Given the description of an element on the screen output the (x, y) to click on. 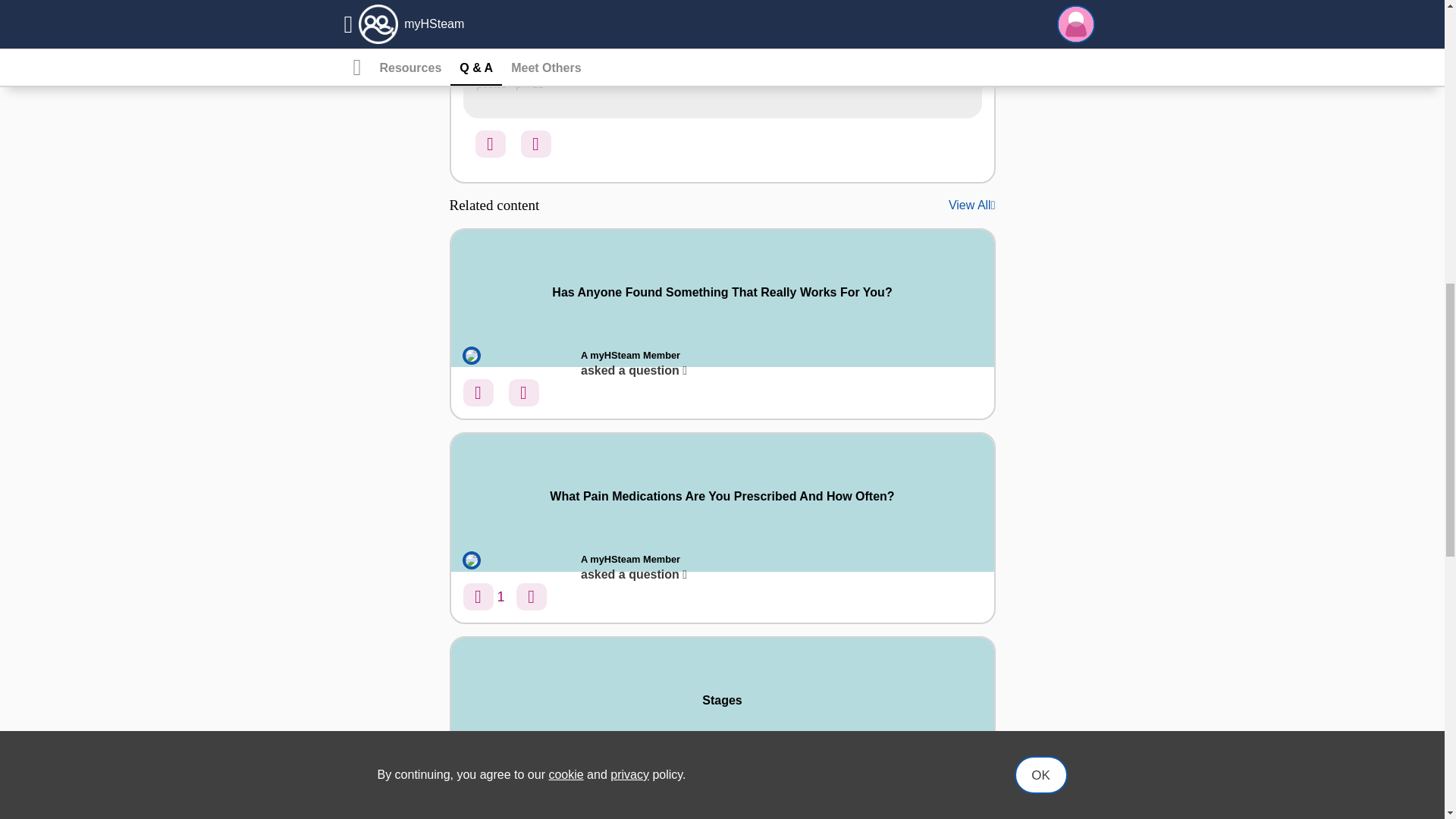
View All (970, 205)
Send a hug (523, 800)
I like this (489, 144)
Send a hug (523, 392)
I like this (478, 392)
I like this (478, 800)
I like this (478, 596)
Send a hug (531, 596)
Send a hug (534, 144)
